Given the description of an element on the screen output the (x, y) to click on. 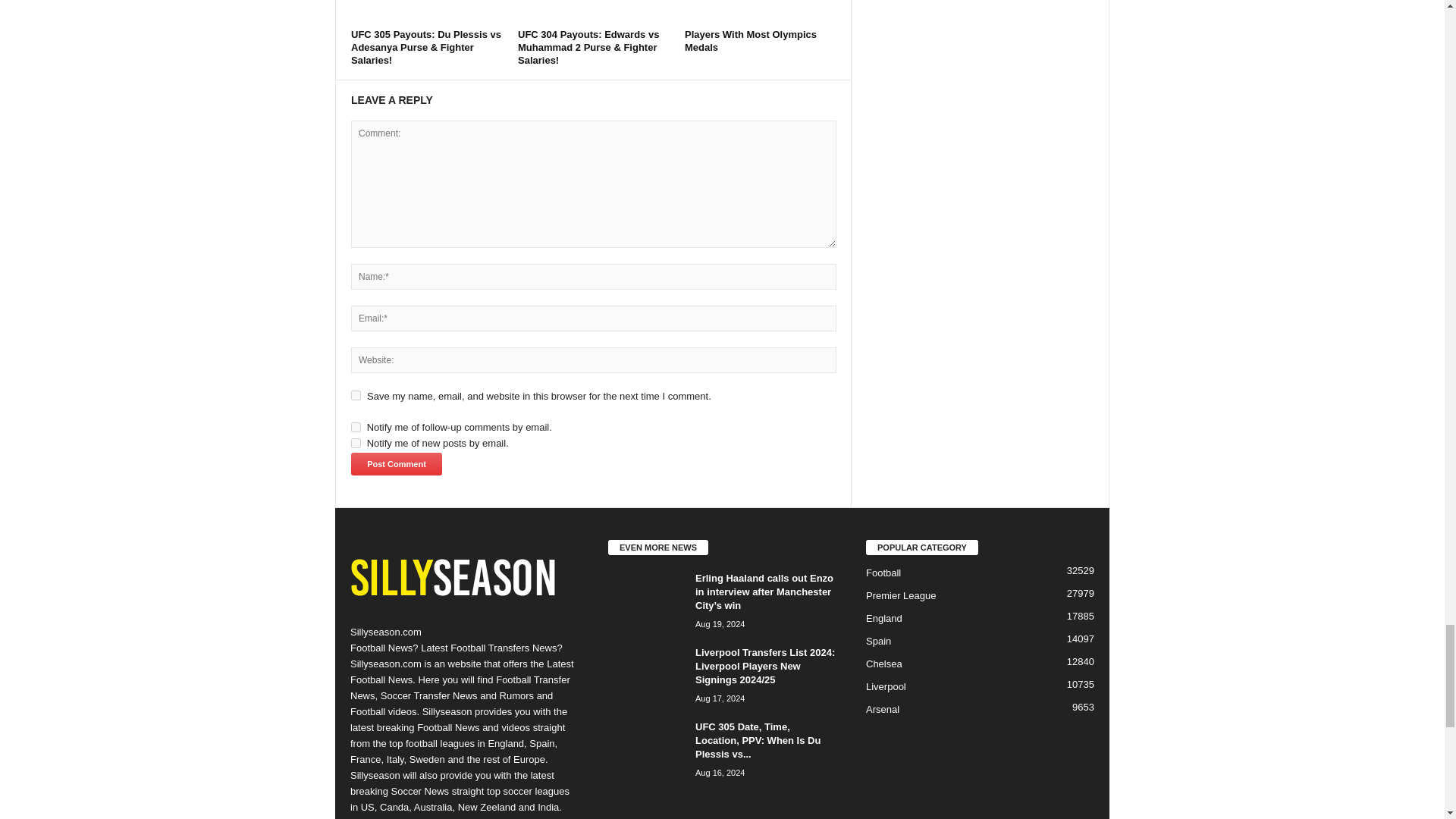
subscribe (355, 442)
Post Comment (396, 463)
yes (355, 395)
subscribe (355, 427)
